Given the description of an element on the screen output the (x, y) to click on. 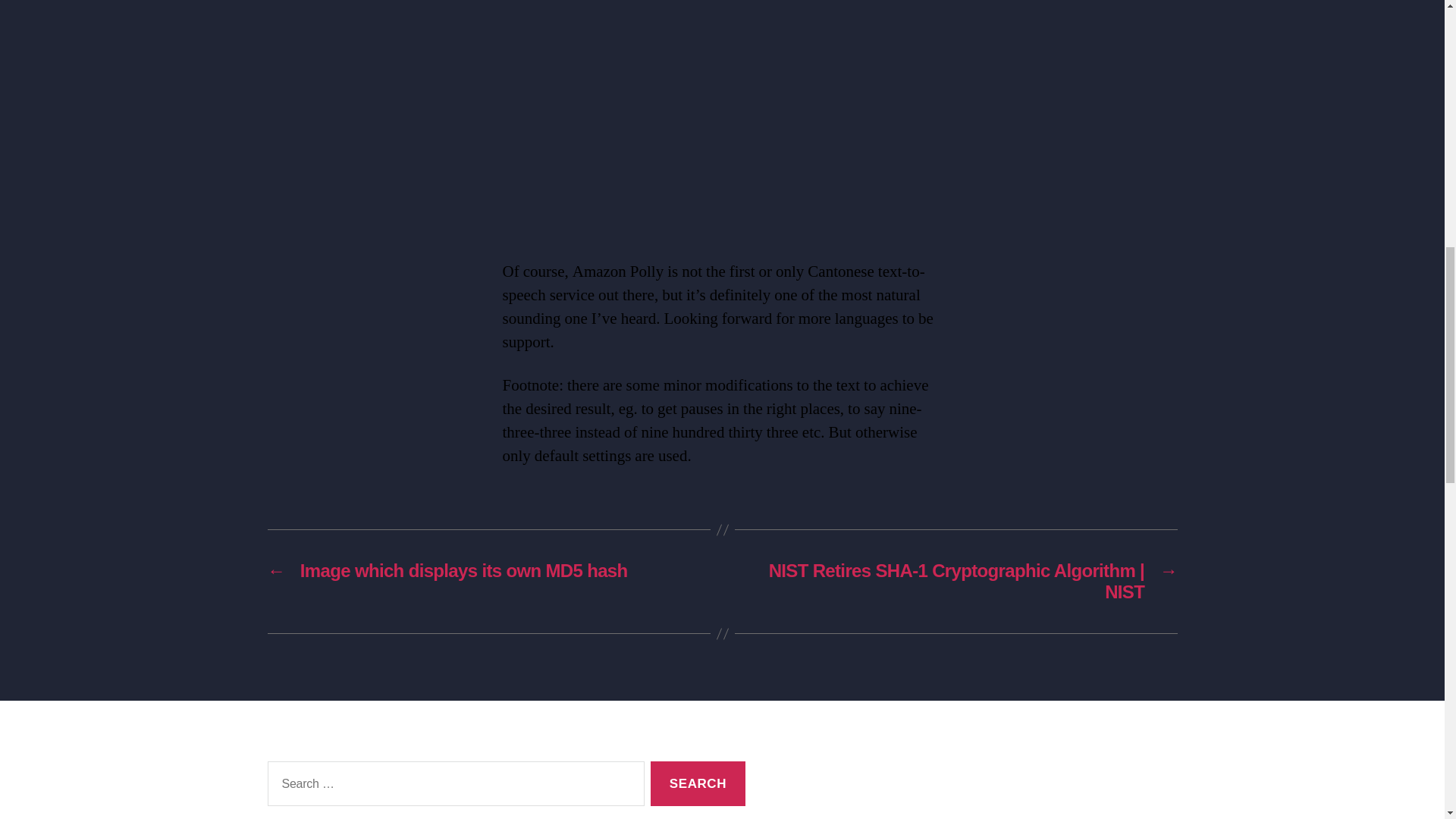
Search (697, 783)
Search (697, 783)
Search (697, 783)
YouTube player (722, 115)
